Given the description of an element on the screen output the (x, y) to click on. 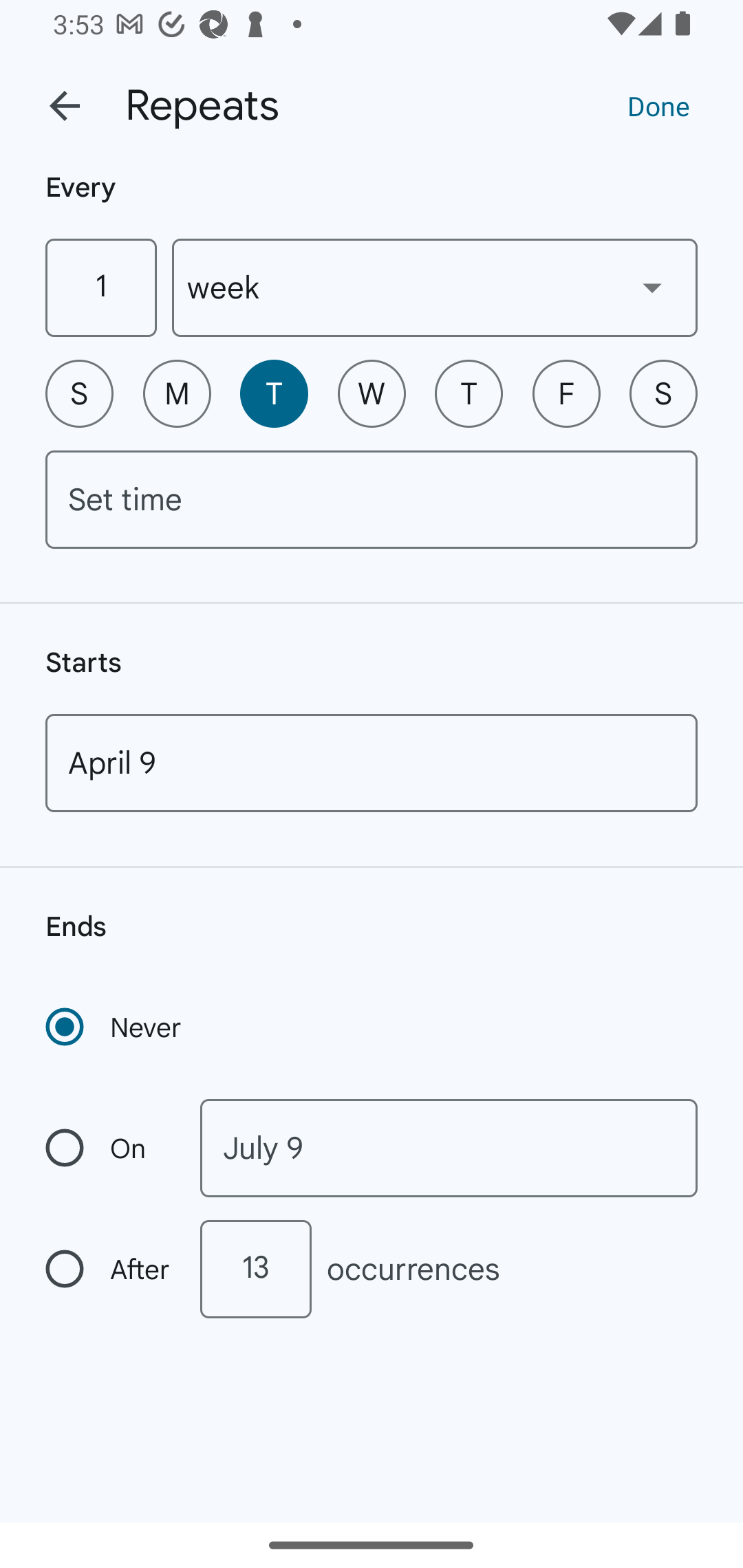
Back (64, 105)
Done (658, 105)
1 (100, 287)
week (434, 287)
Show dropdown menu (652, 286)
S Sunday (79, 393)
M Monday (177, 393)
T Tuesday, selected (273, 393)
W Wednesday (371, 393)
T Thursday (468, 393)
F Friday (566, 393)
S Saturday (663, 393)
Set time (371, 499)
April 9 (371, 762)
Never Recurrence never ends (115, 1026)
July 9 (448, 1148)
On Recurrence ends on a specific date (109, 1148)
13 (255, 1268)
